Given the description of an element on the screen output the (x, y) to click on. 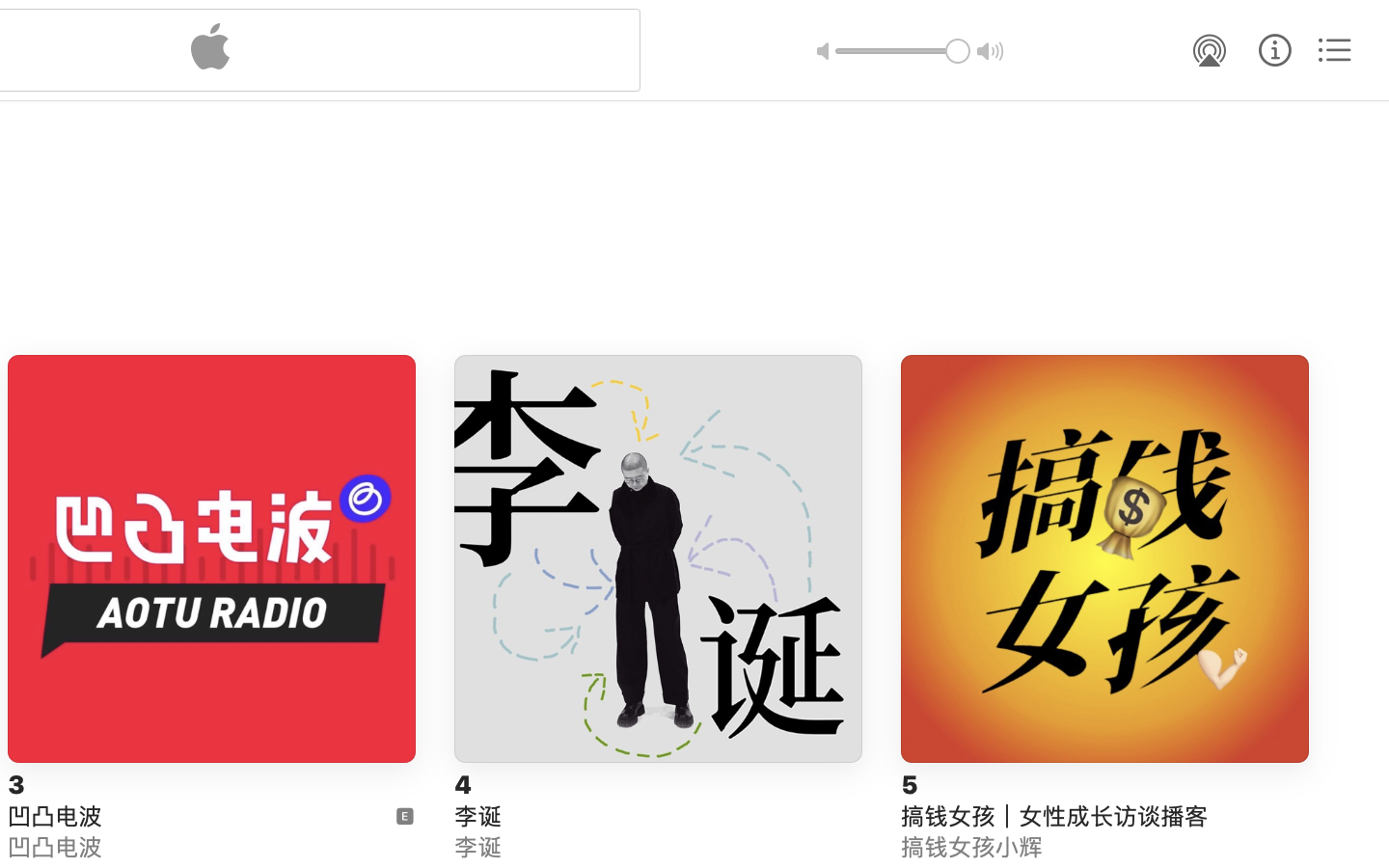
1.0 Element type: AXSlider (902, 50)
